Given the description of an element on the screen output the (x, y) to click on. 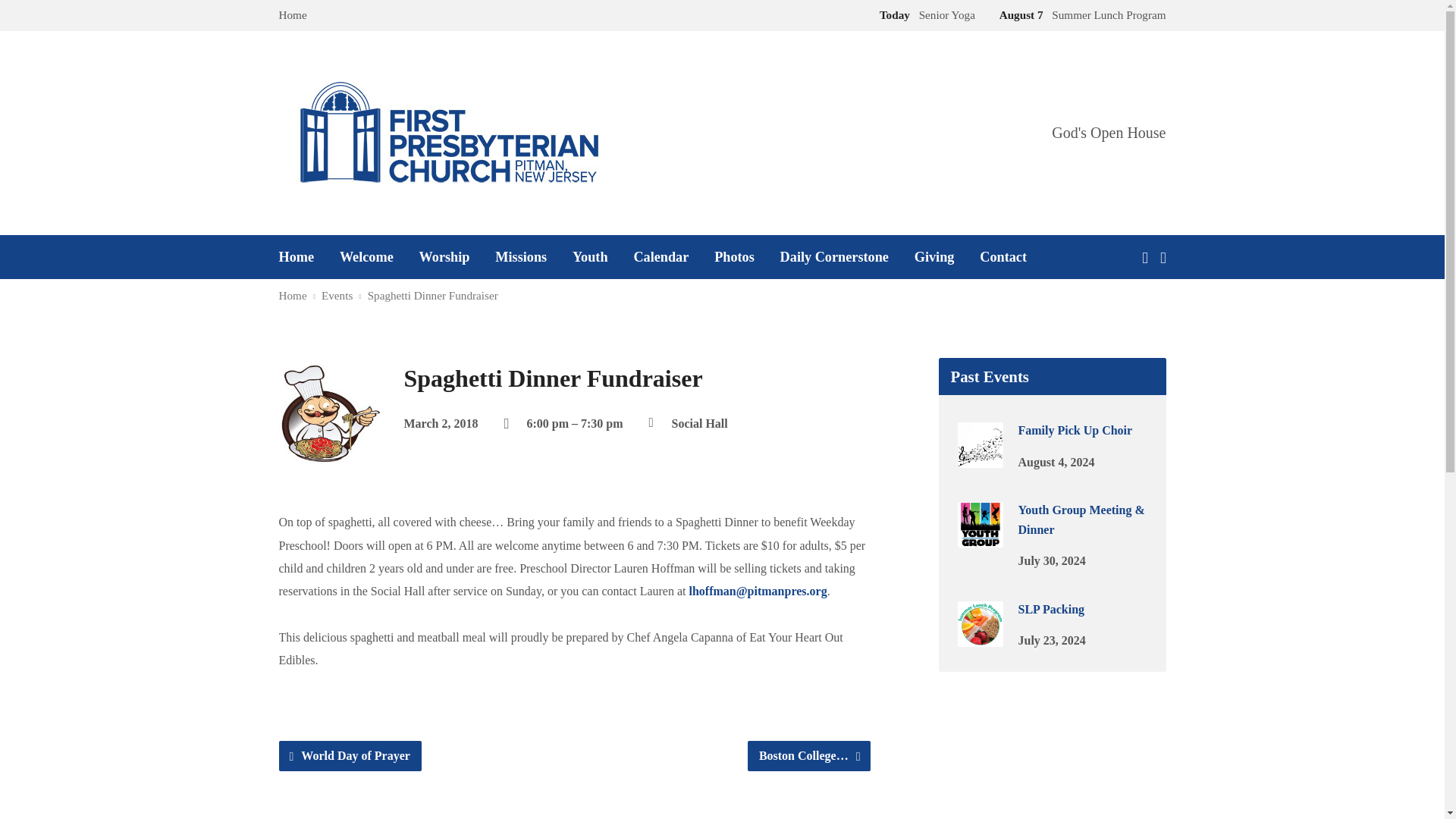
Home (293, 295)
Family Pick Up Choir (979, 457)
Photos (734, 256)
Welcome (366, 256)
Calendar (660, 256)
Home (296, 256)
Daily Cornerstone (834, 256)
Contact (1002, 256)
Worship (444, 256)
Senior Yoga (924, 14)
Missions (521, 256)
Giving (934, 256)
Home (293, 14)
August 7 Summer Lunch Program (1079, 14)
SLP Packing (1050, 608)
